Given the description of an element on the screen output the (x, y) to click on. 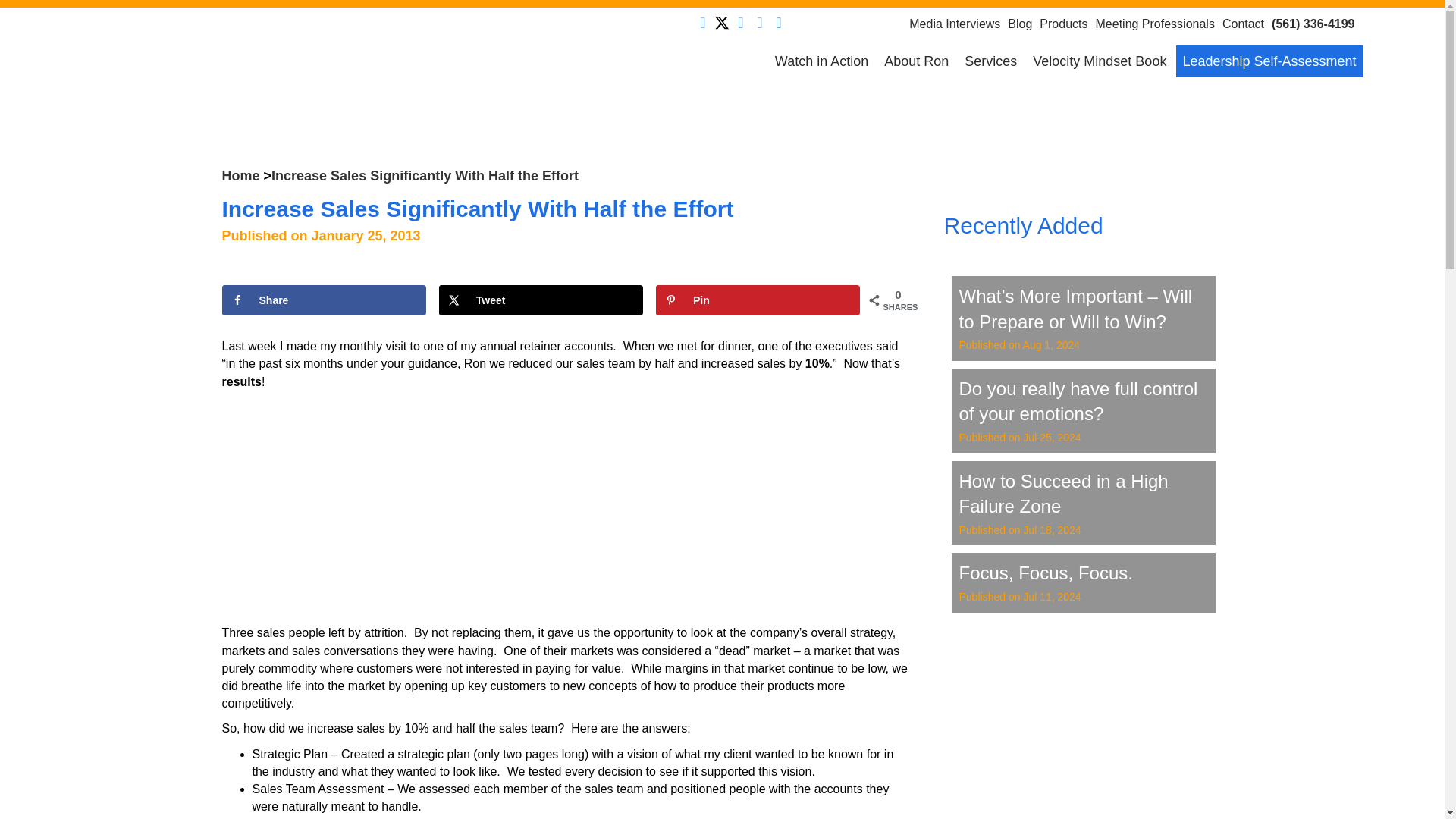
Save to Pinterest (758, 300)
Services (990, 60)
LinkedIn (740, 22)
About Ron (916, 60)
Share on Facebook (323, 300)
Contact (1247, 23)
Meeting Professionals (1157, 23)
Velocity Mindset Book (1099, 60)
Watch in Action (821, 60)
